Given the description of an element on the screen output the (x, y) to click on. 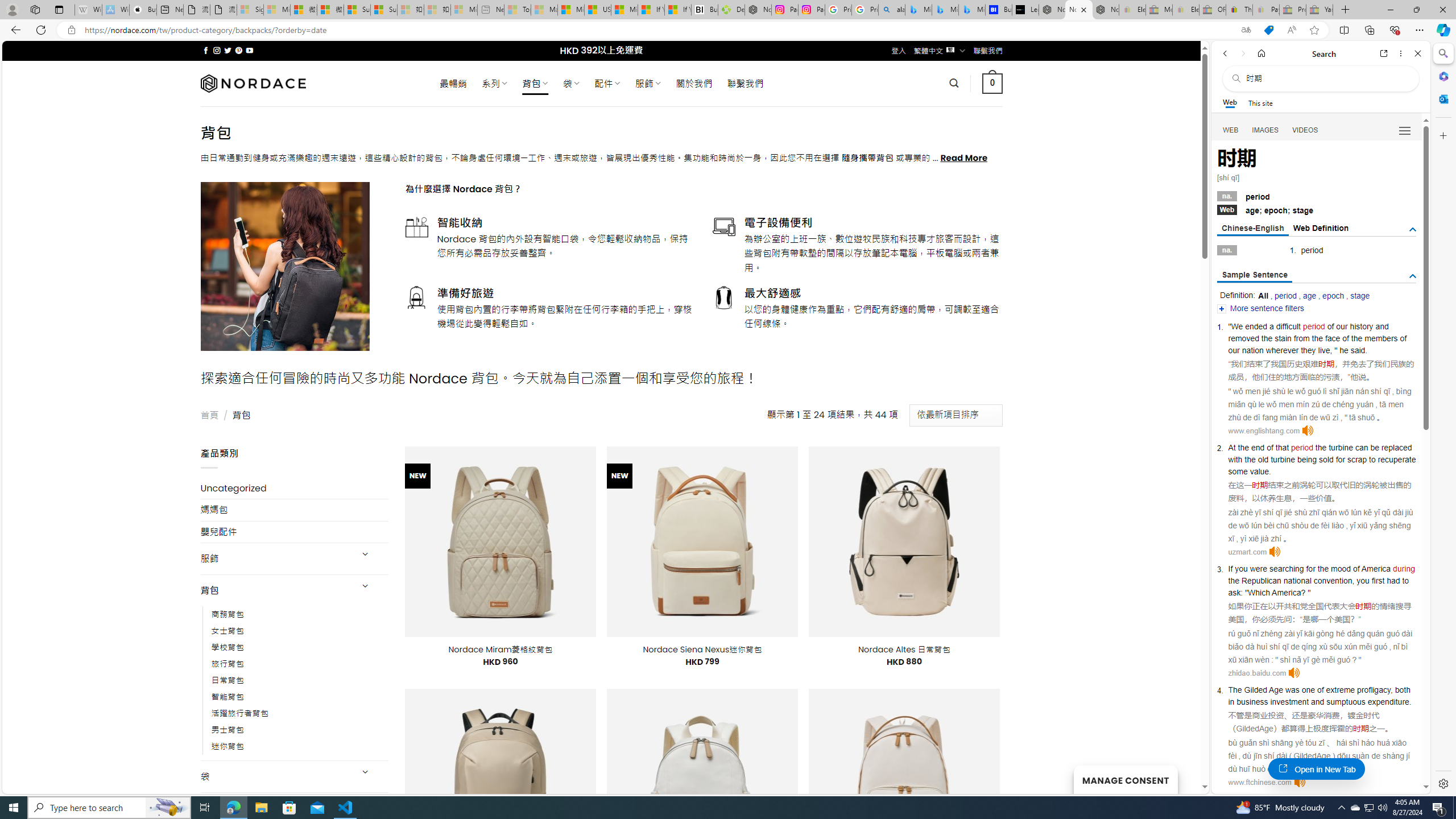
said (1357, 349)
Press Room - eBay Inc. - Sleeping (1292, 9)
App bar (728, 29)
they (1308, 349)
both (1402, 689)
some (1237, 470)
This site has coupons! Shopping in Microsoft Edge (1268, 29)
